Given the description of an element on the screen output the (x, y) to click on. 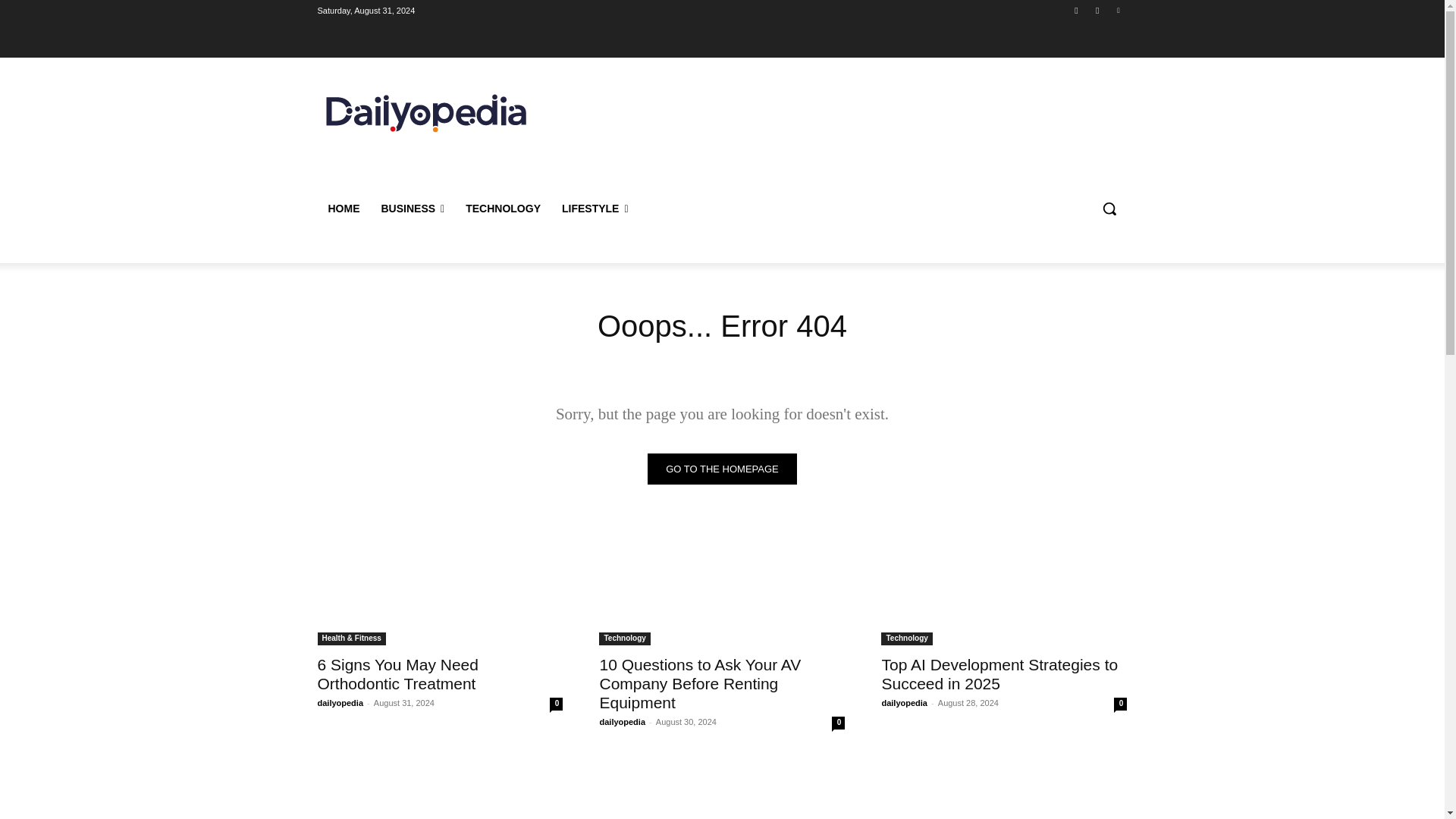
6 Signs You May Need Orthodontic Treatment (397, 674)
6 Signs You May Need Orthodontic Treatment (439, 583)
6 Signs You May Need Orthodontic Treatment (397, 674)
Technology (905, 638)
BUSINESS (411, 208)
Physiotherapy for Seniors: Why Home Services are Ideal (439, 787)
Instagram (1097, 9)
TECHNOLOGY (502, 208)
HOME (343, 208)
Top AI Development Strategies to Succeed in 2025 (999, 674)
